Given the description of an element on the screen output the (x, y) to click on. 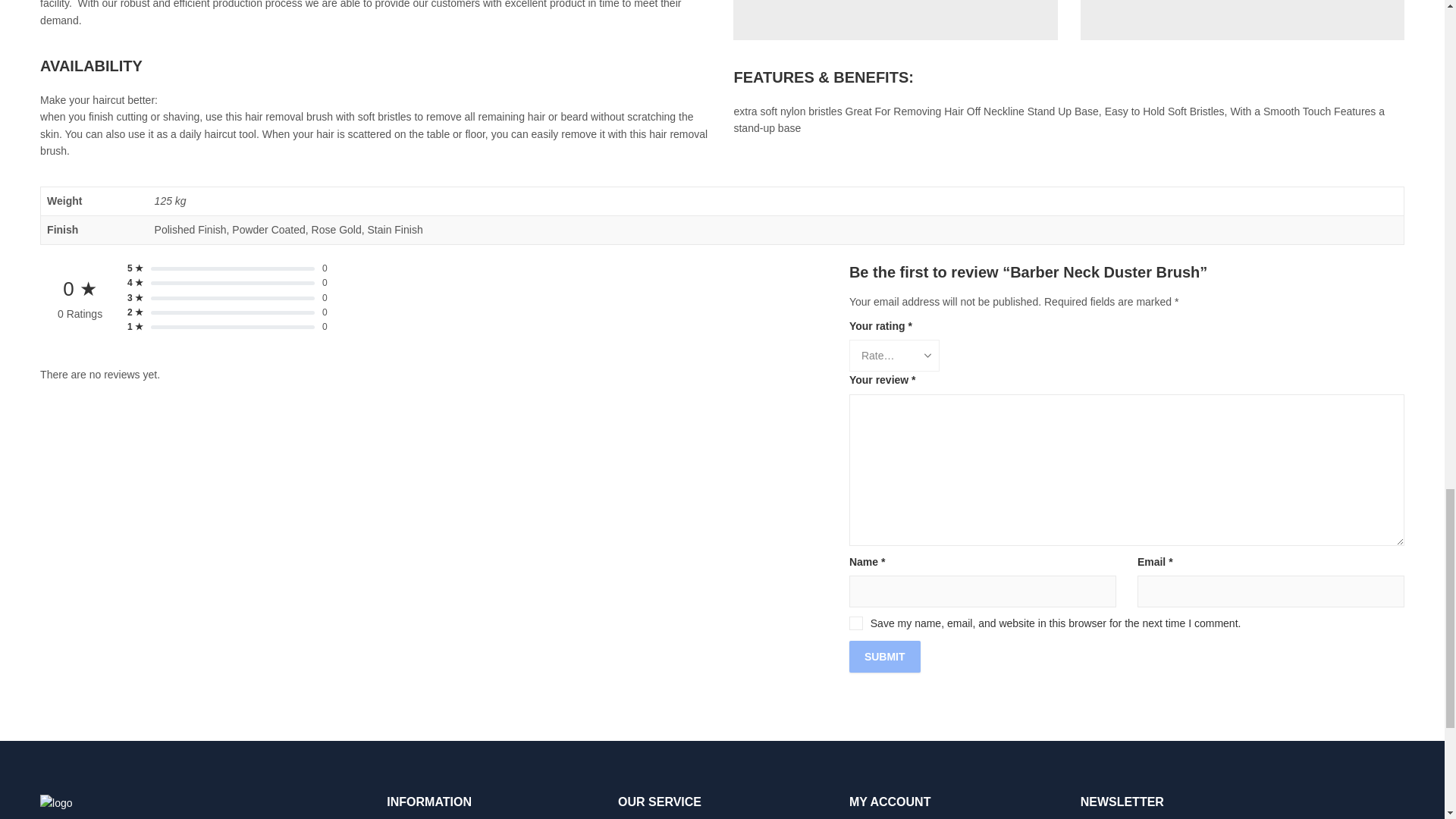
549 (1242, 19)
Submit (884, 656)
yes (855, 622)
550 (895, 19)
